Given the description of an element on the screen output the (x, y) to click on. 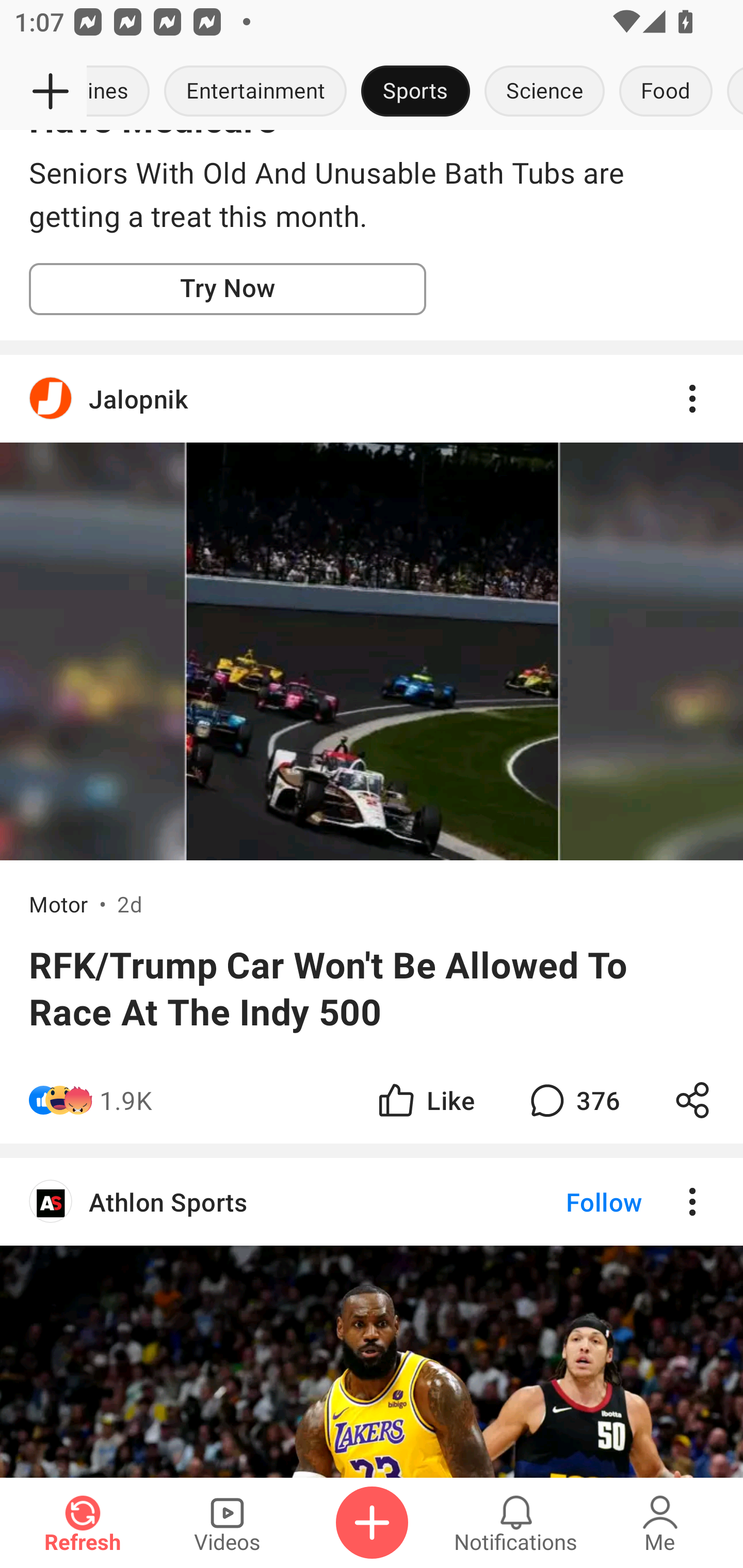
Headlines (121, 91)
Entertainment (254, 91)
Sports (415, 91)
Science (544, 91)
Food (665, 91)
Try Now (227, 289)
Jalopnik (371, 398)
1.9K (125, 1099)
Like (425, 1099)
376 (572, 1099)
Athlon Sports Follow (371, 1317)
Athlon Sports Follow (371, 1200)
Follow (569, 1200)
Videos (227, 1522)
Notifications (516, 1522)
Me (659, 1522)
